Given the description of an element on the screen output the (x, y) to click on. 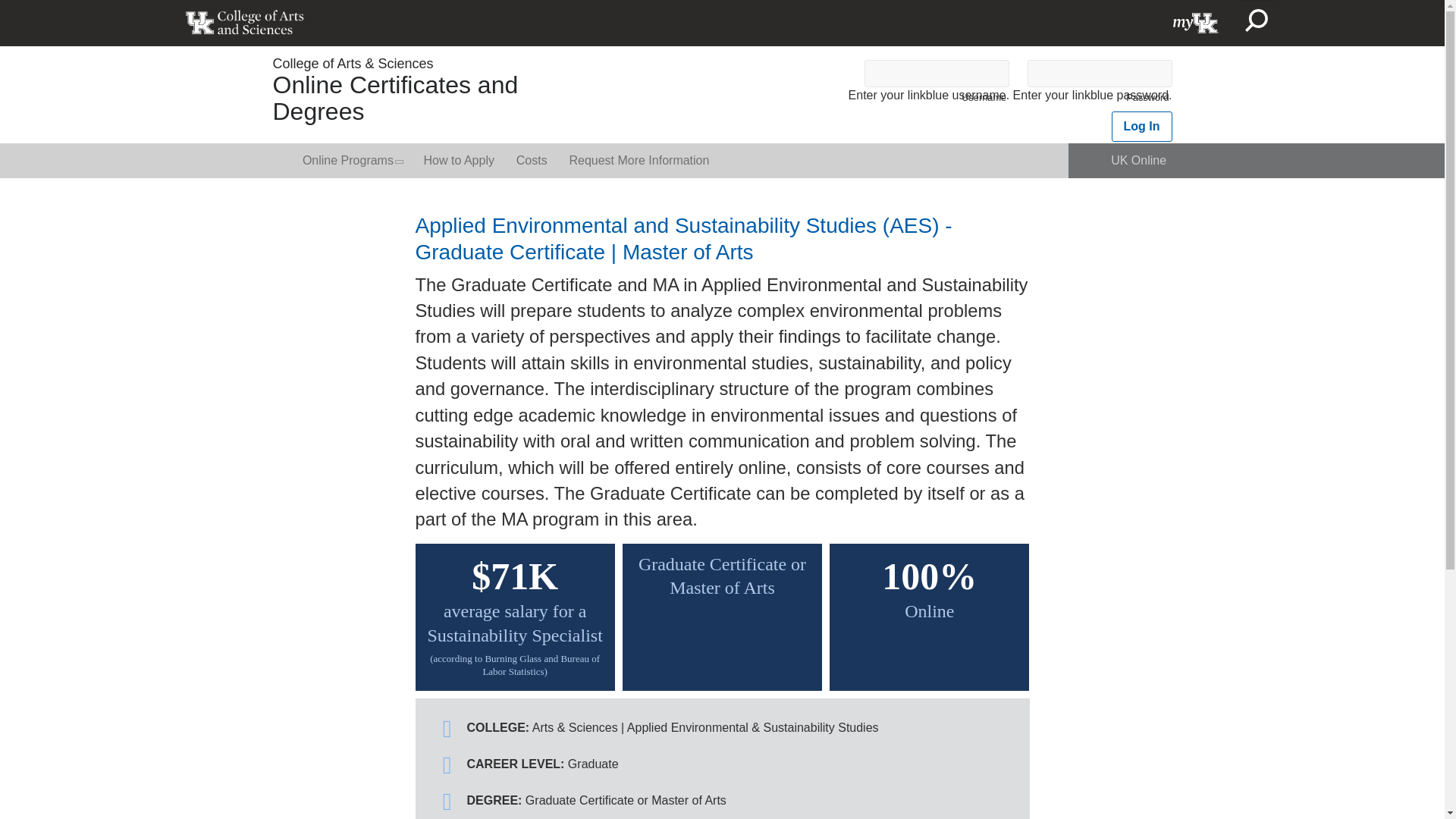
Log in (1142, 126)
How to Apply (458, 160)
Log in (1142, 126)
myUK (1195, 22)
Online Programs (351, 160)
Request More Information (638, 160)
UK Online (1138, 160)
Costs (531, 160)
Online Certificates and Degrees (395, 98)
